Given the description of an element on the screen output the (x, y) to click on. 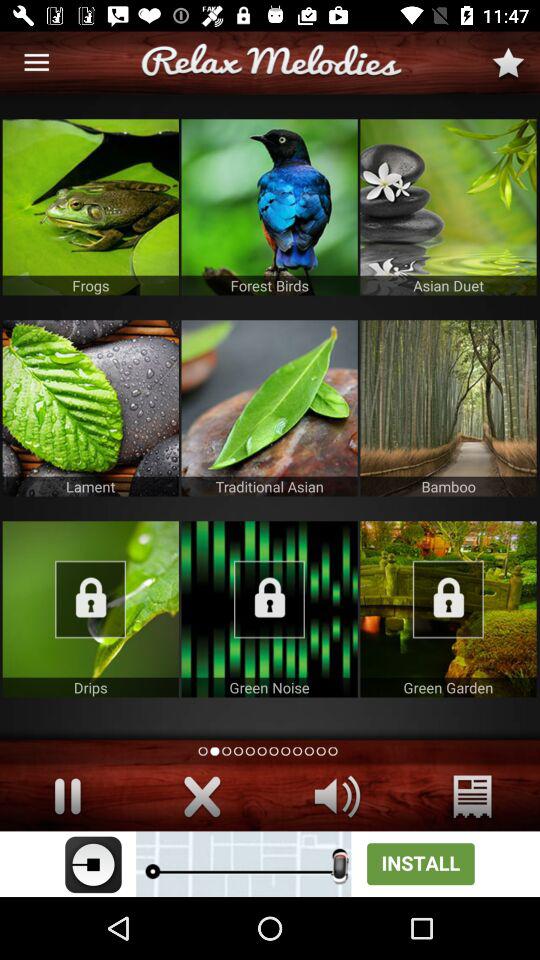
go to sepkar (337, 796)
